Given the description of an element on the screen output the (x, y) to click on. 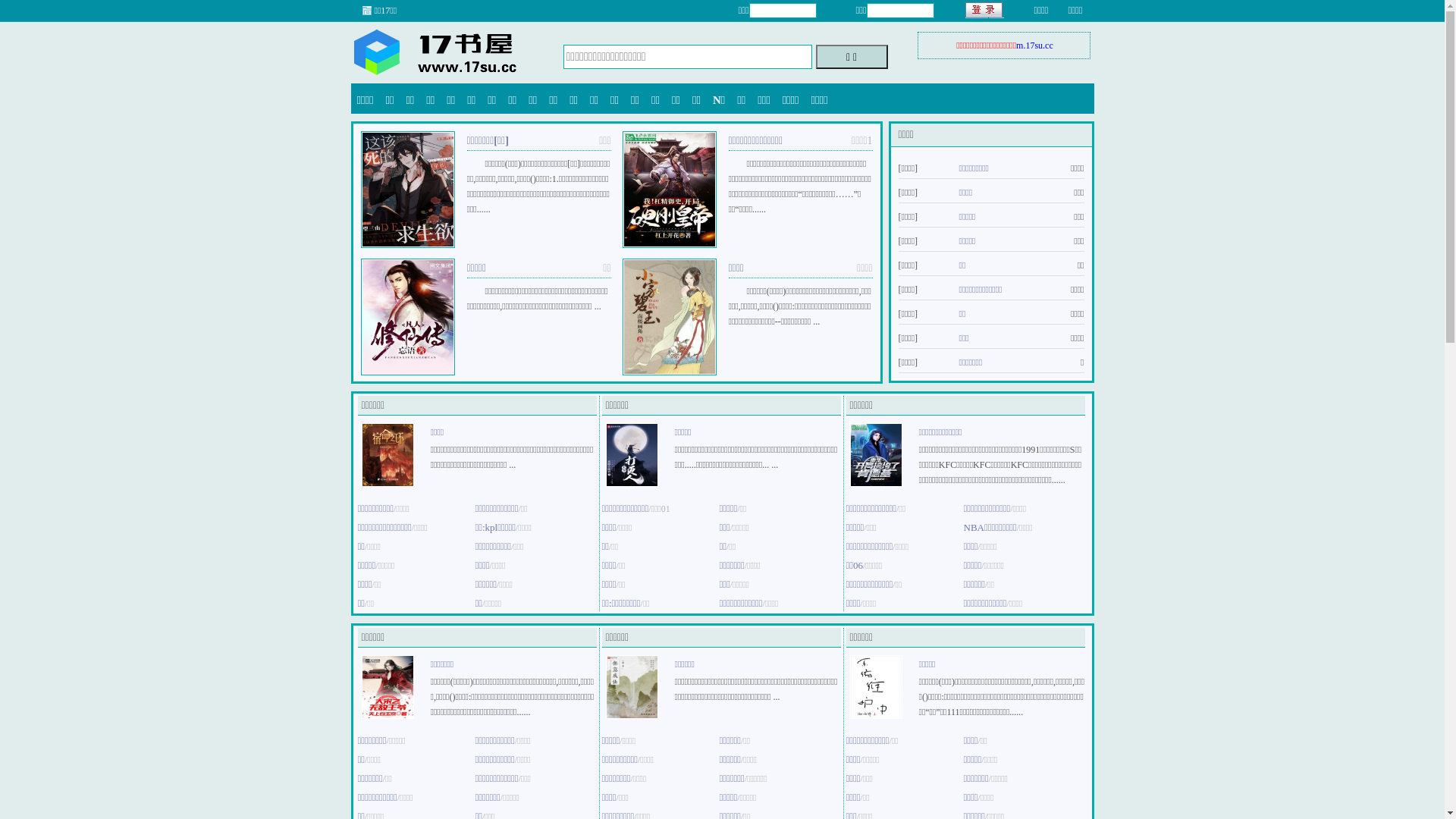
  Element type: text (983, 10)
m.17su.cc Element type: text (1034, 45)
